Given the description of an element on the screen output the (x, y) to click on. 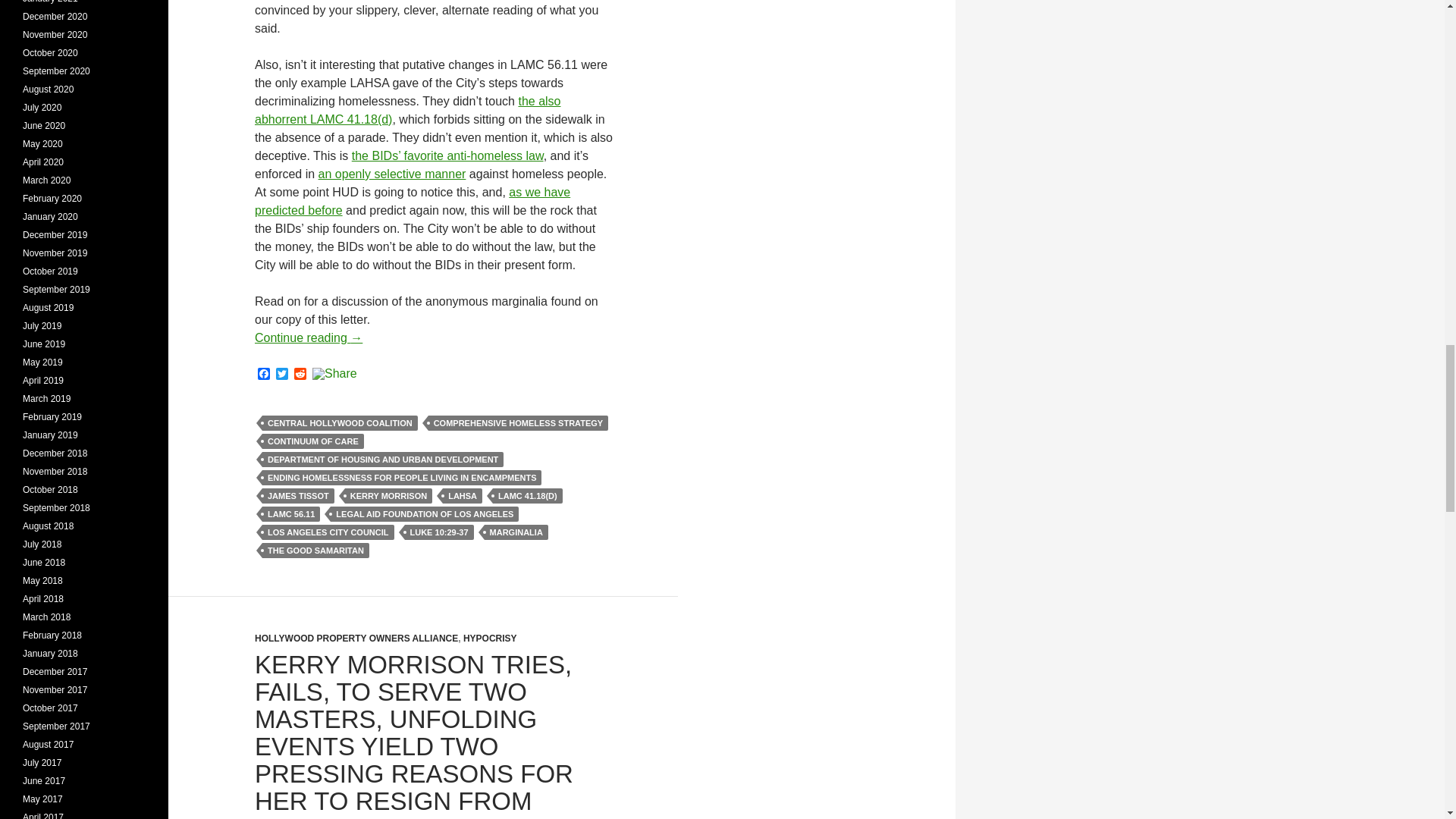
Facebook (263, 374)
Reddit (299, 374)
Twitter (282, 374)
Facebook (263, 374)
as we have predicted before (412, 201)
Reddit (299, 374)
Twitter (282, 374)
an openly selective manner (391, 173)
